Given the description of an element on the screen output the (x, y) to click on. 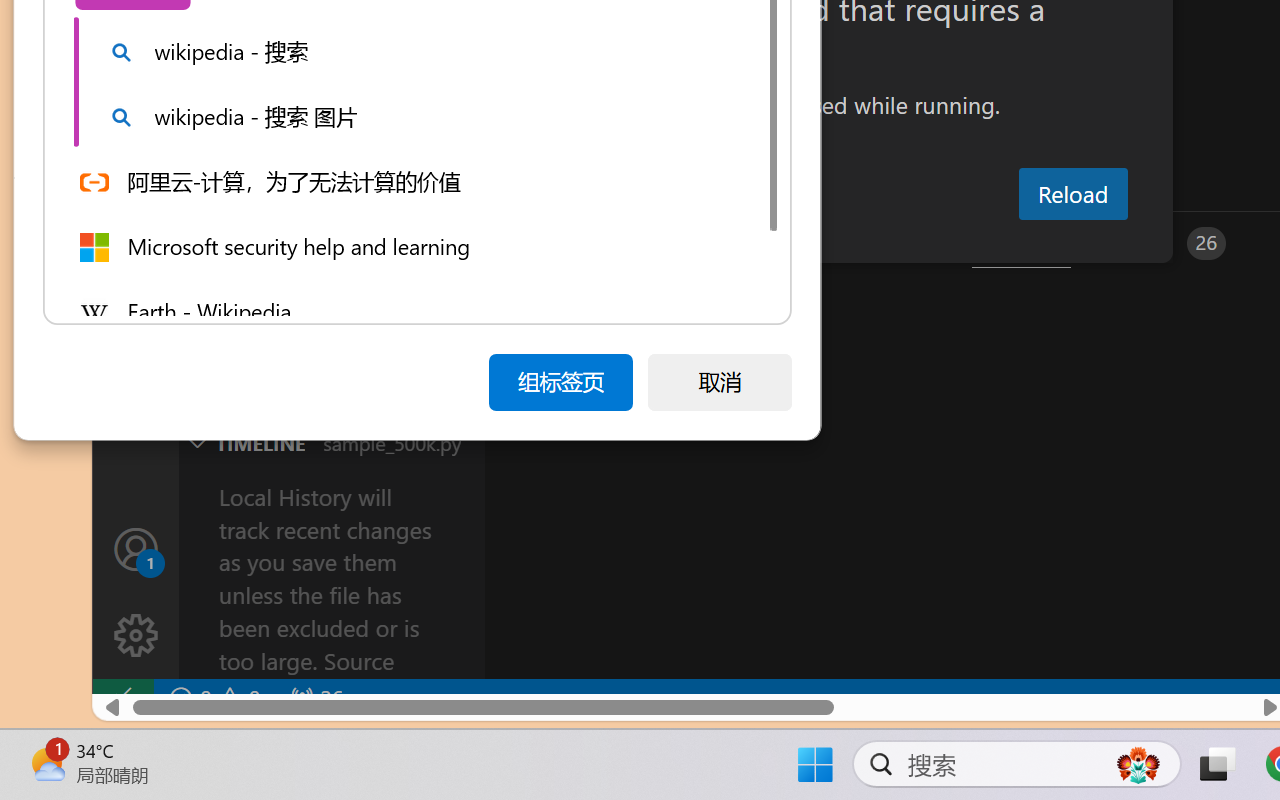
remote (122, 698)
Terminal (Ctrl+`) (1021, 243)
No Problems (212, 698)
Ports - 26 forwarded ports (1165, 243)
Microsoft security help and learning (413, 245)
